Given the description of an element on the screen output the (x, y) to click on. 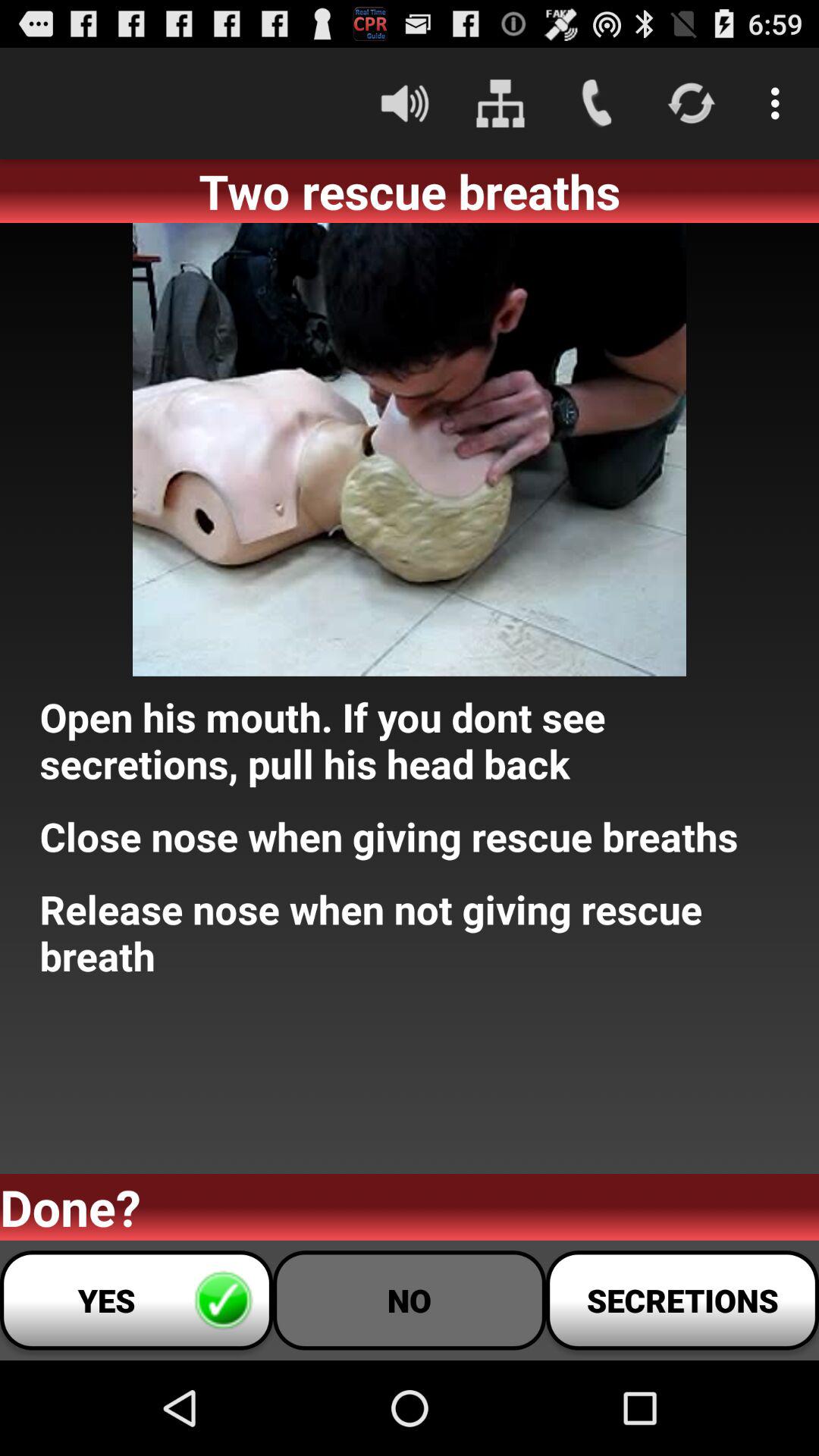
open the icon next to yes button (409, 1300)
